Given the description of an element on the screen output the (x, y) to click on. 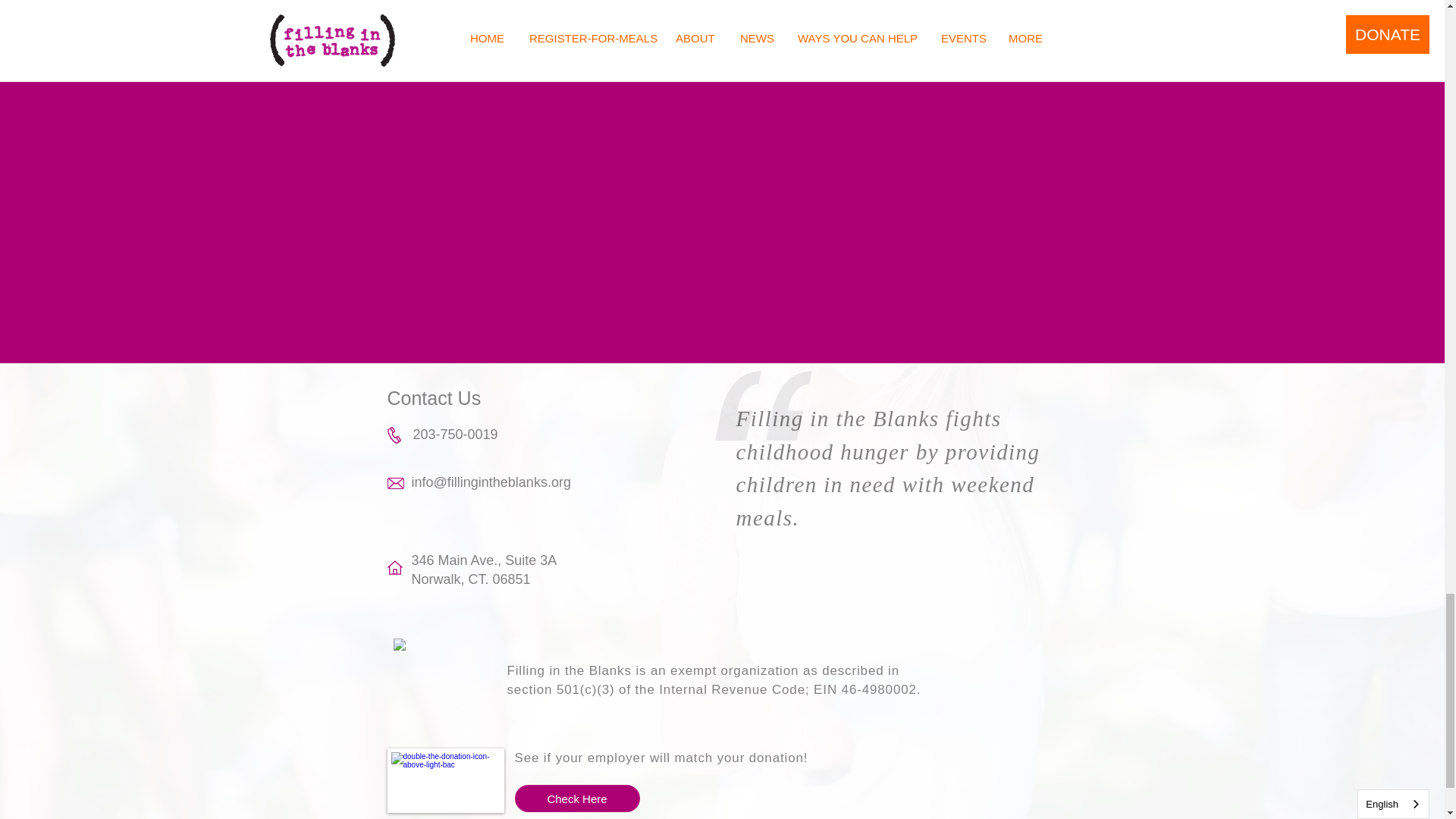
Embedded Content (437, 680)
Site Search (992, 19)
